Given the description of an element on the screen output the (x, y) to click on. 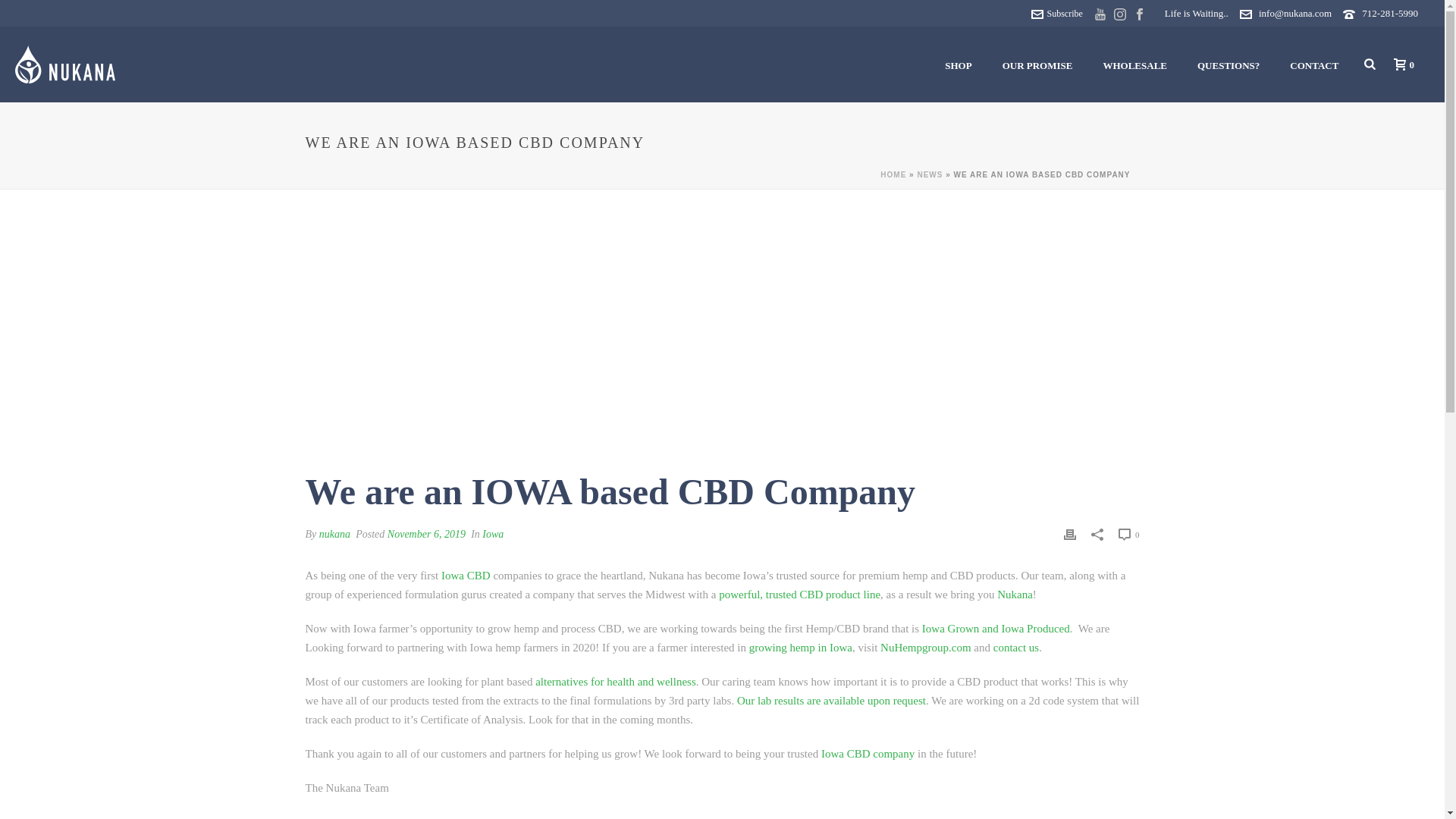
WHOLESALE (1134, 65)
Life is Waiting.. (64, 64)
WHOLESALE (1134, 65)
OUR PROMISE (1037, 65)
CONTACT (1314, 65)
QUESTIONS? (1228, 65)
OUR PROMISE (1037, 65)
0 (1400, 64)
712-281-5990 (1389, 12)
SHOP (958, 65)
